Given the description of an element on the screen output the (x, y) to click on. 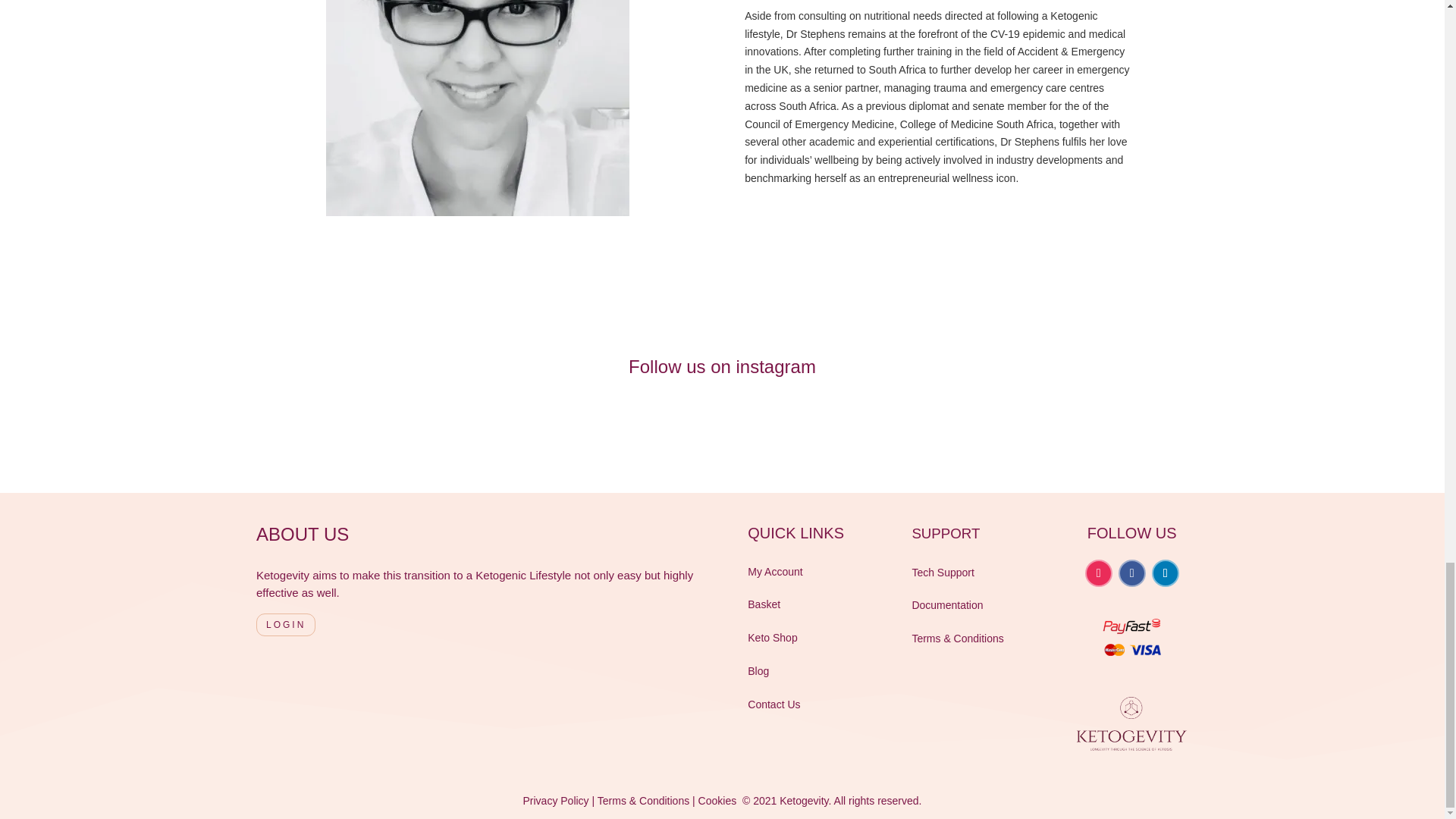
Follow on Instagram (1098, 573)
Dr-Stephens (477, 108)
keto icon (1131, 727)
Follow on LinkedIn (1165, 573)
Follow on Facebook (1131, 573)
